Given the description of an element on the screen output the (x, y) to click on. 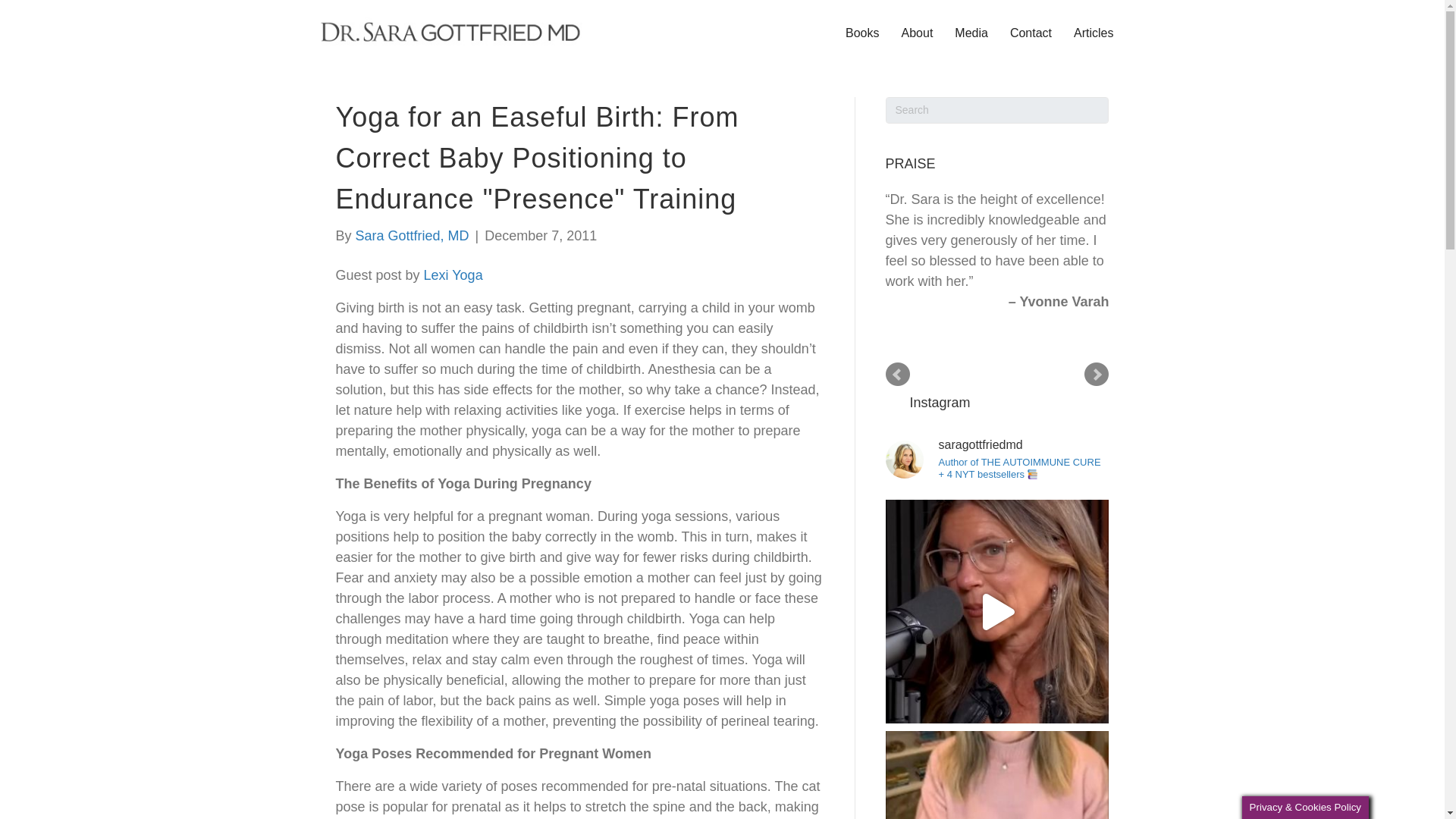
Contact (1030, 33)
Type and press Enter to search. (997, 110)
drsara-logo (450, 33)
Lexi Yoga (453, 274)
Articles (1093, 33)
About (917, 33)
Prev (897, 374)
Next (1096, 374)
Sara Gottfried, MD (411, 235)
Media (970, 33)
Books (861, 33)
